Given the description of an element on the screen output the (x, y) to click on. 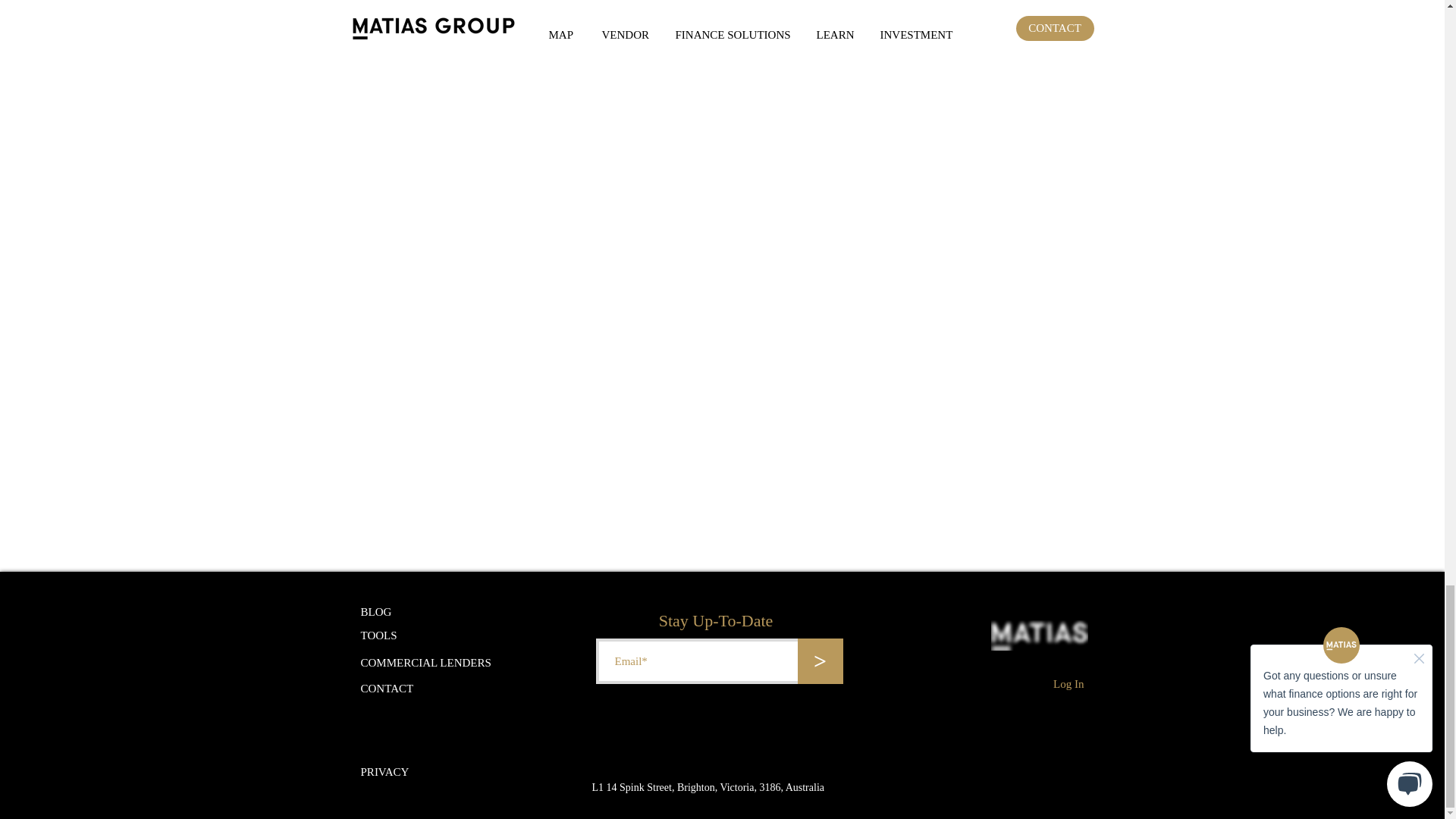
PRIVACY (385, 771)
COMMERCIAL LENDERS (426, 662)
BLOG (385, 612)
CONTACT (387, 688)
Log In (1068, 683)
TOOLS (379, 634)
